Given the description of an element on the screen output the (x, y) to click on. 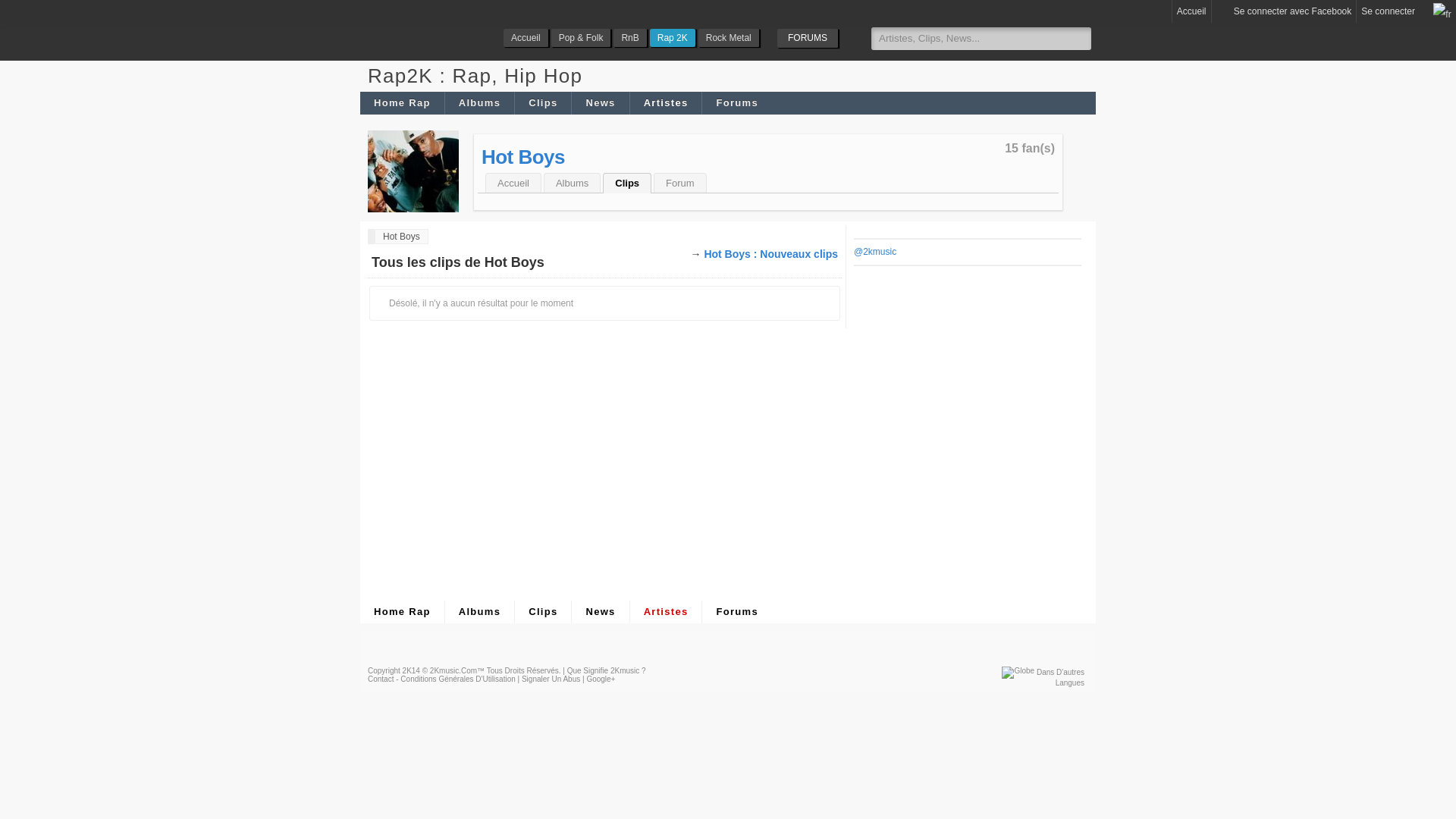
Accueil Element type: text (513, 182)
Que Signifie 2Kmusic ? Element type: text (606, 670)
RnB Element type: text (629, 37)
Google+ Element type: text (600, 678)
Albums Element type: text (479, 611)
Forum Element type: text (680, 182)
Hot Boys Element type: text (397, 236)
Accueil Element type: text (525, 37)
Rock Metal Element type: text (728, 37)
Artistes Element type: text (665, 102)
News Element type: text (599, 611)
 Se connecter avec Facebook Element type: text (1283, 11)
Forums Element type: text (736, 611)
News Element type: text (599, 102)
Pop & Folk Element type: text (581, 37)
Home Rap Element type: text (402, 611)
Clips Element type: text (626, 183)
@2kmusic Element type: text (874, 251)
Albums Element type: text (479, 102)
Forums Element type: text (736, 102)
Dans D'Autres Langues Element type: text (1060, 677)
Hot Boys : Nouveaux clips Element type: text (770, 253)
FORUMS Element type: text (807, 37)
Clips Element type: text (542, 611)
Se connecter Element type: text (1387, 11)
Signaler Un Abus Element type: text (550, 678)
Albums Element type: text (571, 182)
Home Rap Element type: text (402, 102)
Artistes Element type: text (665, 611)
Hot Boys Element type: text (522, 156)
Clips Element type: text (542, 102)
Accueil Element type: text (1191, 11)
Rap 2K Element type: text (672, 37)
